Given the description of an element on the screen output the (x, y) to click on. 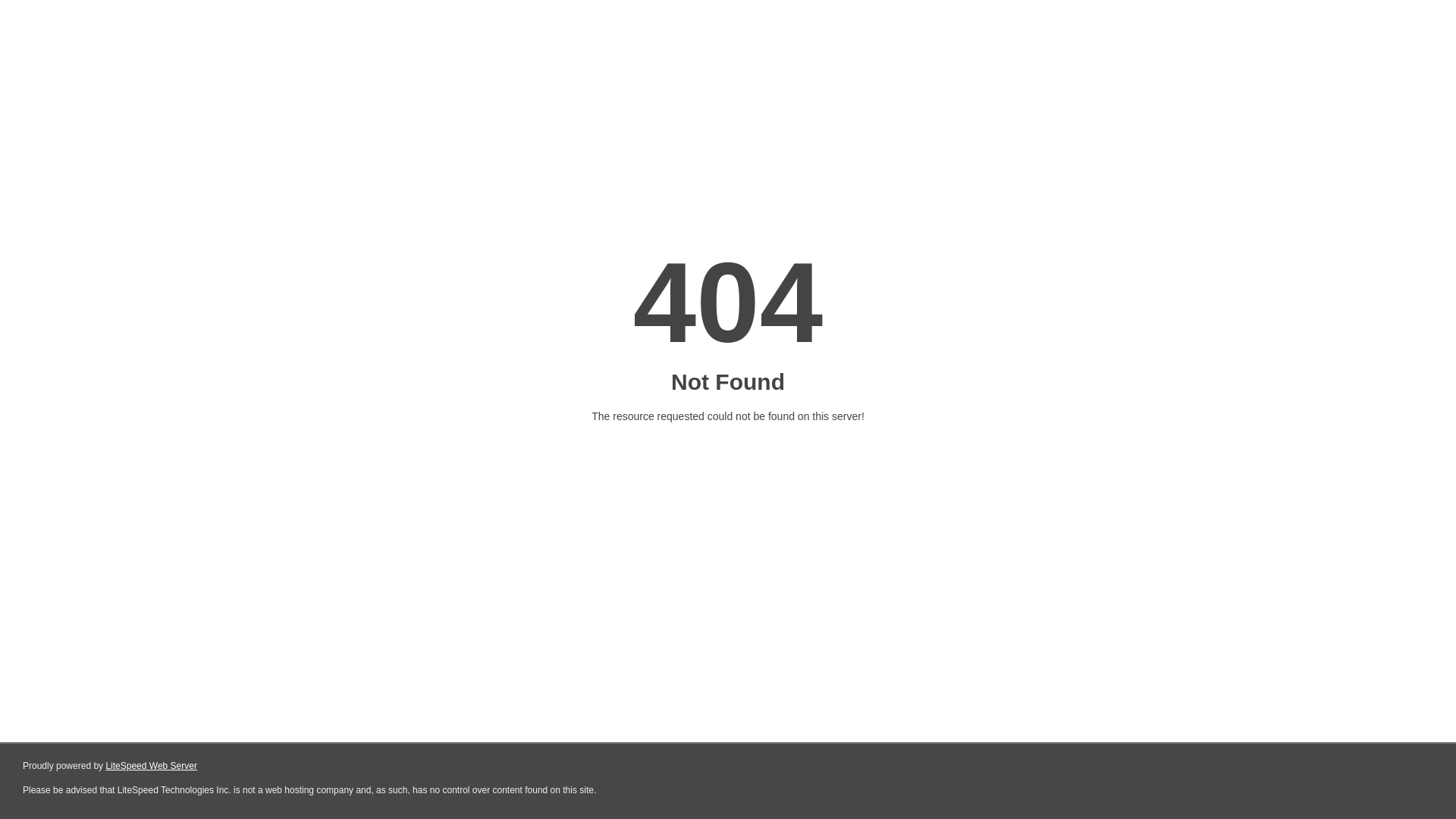
LiteSpeed Web Server Element type: text (151, 765)
